Given the description of an element on the screen output the (x, y) to click on. 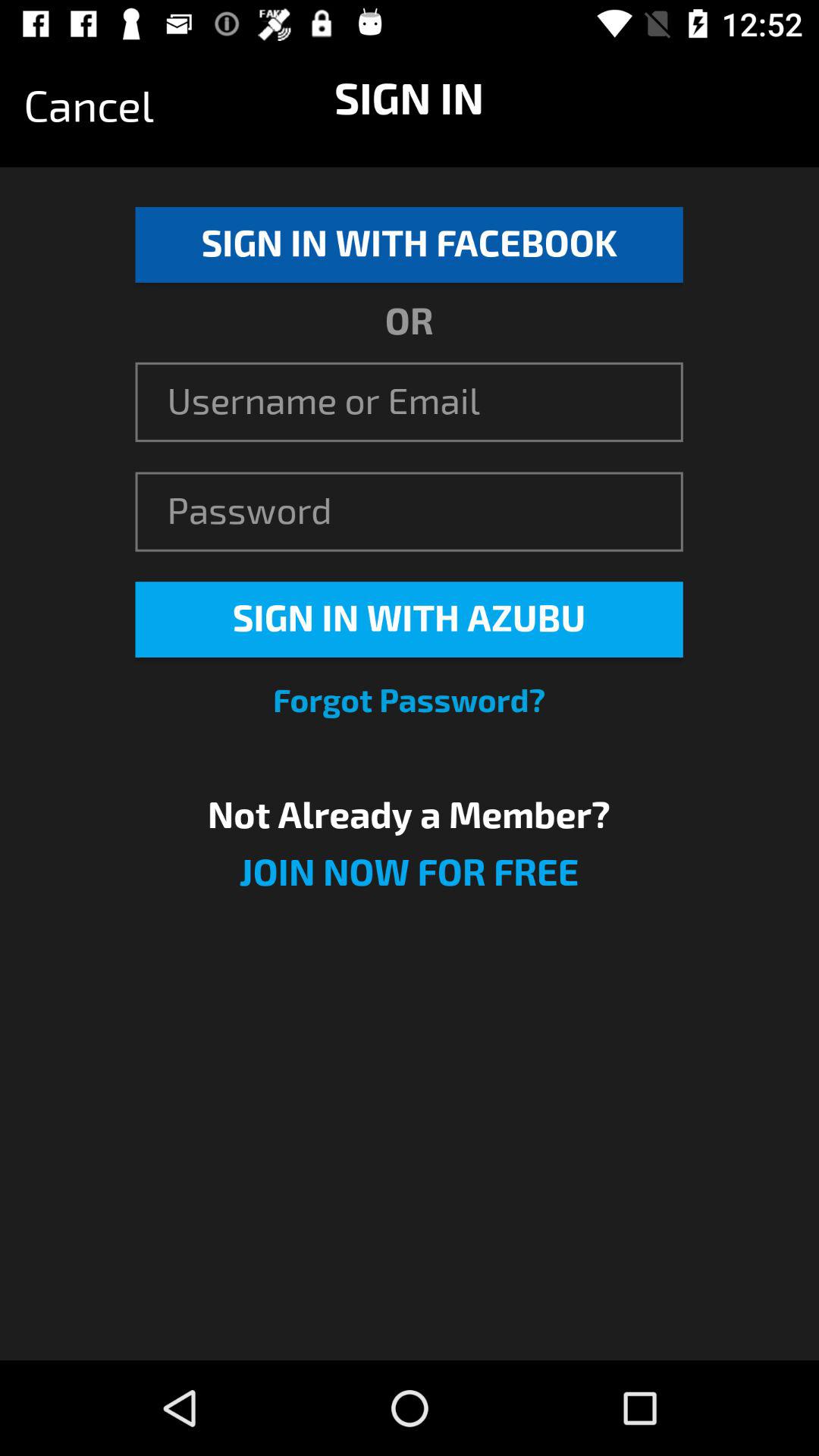
press icon above the not already a (409, 701)
